Given the description of an element on the screen output the (x, y) to click on. 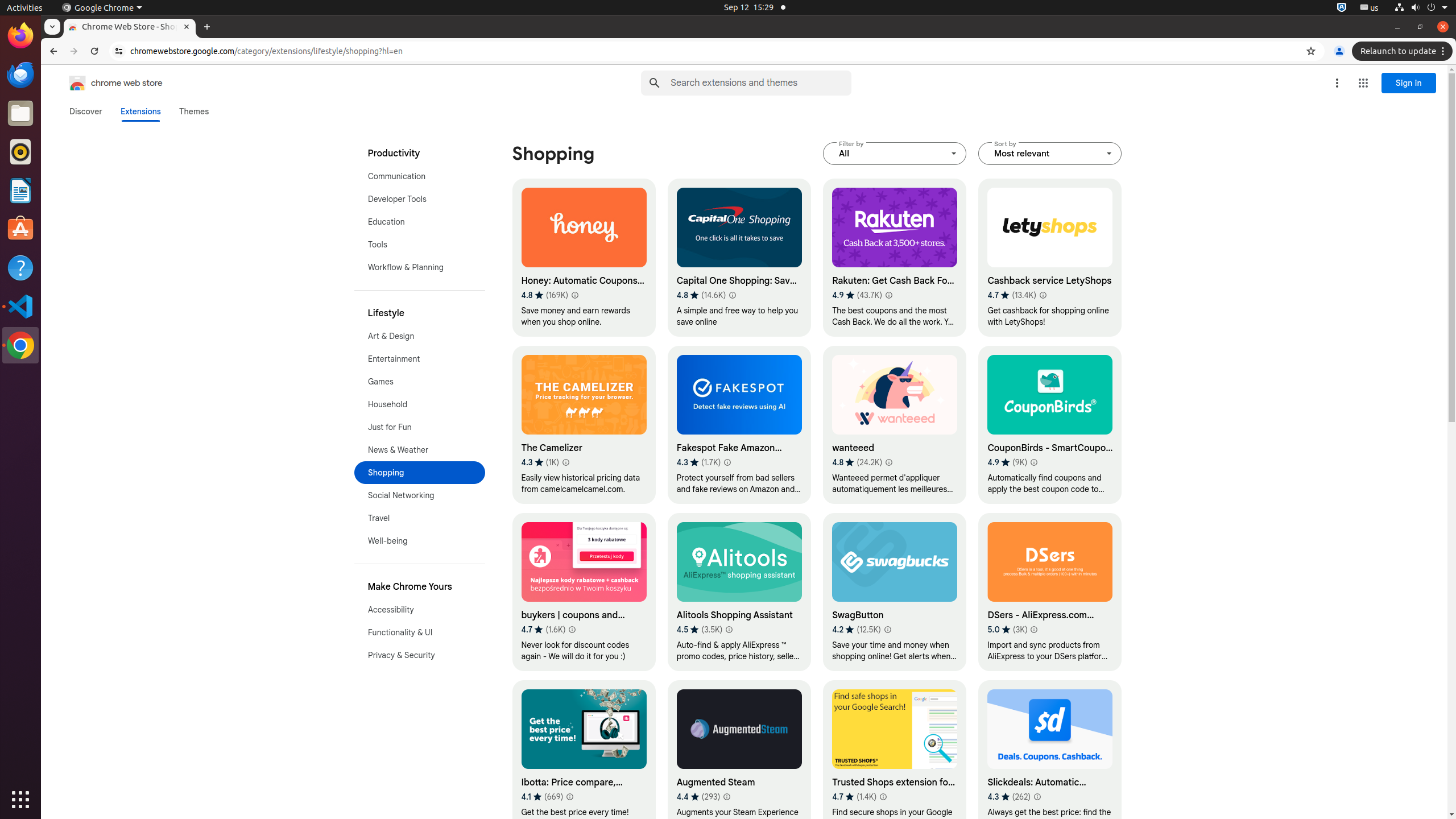
Learn more about results and reviews "Augmented Steam" Element type: push-button (726, 796)
:1.21/StatusNotifierItem Element type: menu (1369, 7)
Google apps Element type: push-button (1362, 82)
Accessibility Element type: menu-item (419, 609)
Productivity Element type: menu-item (419, 153)
